Given the description of an element on the screen output the (x, y) to click on. 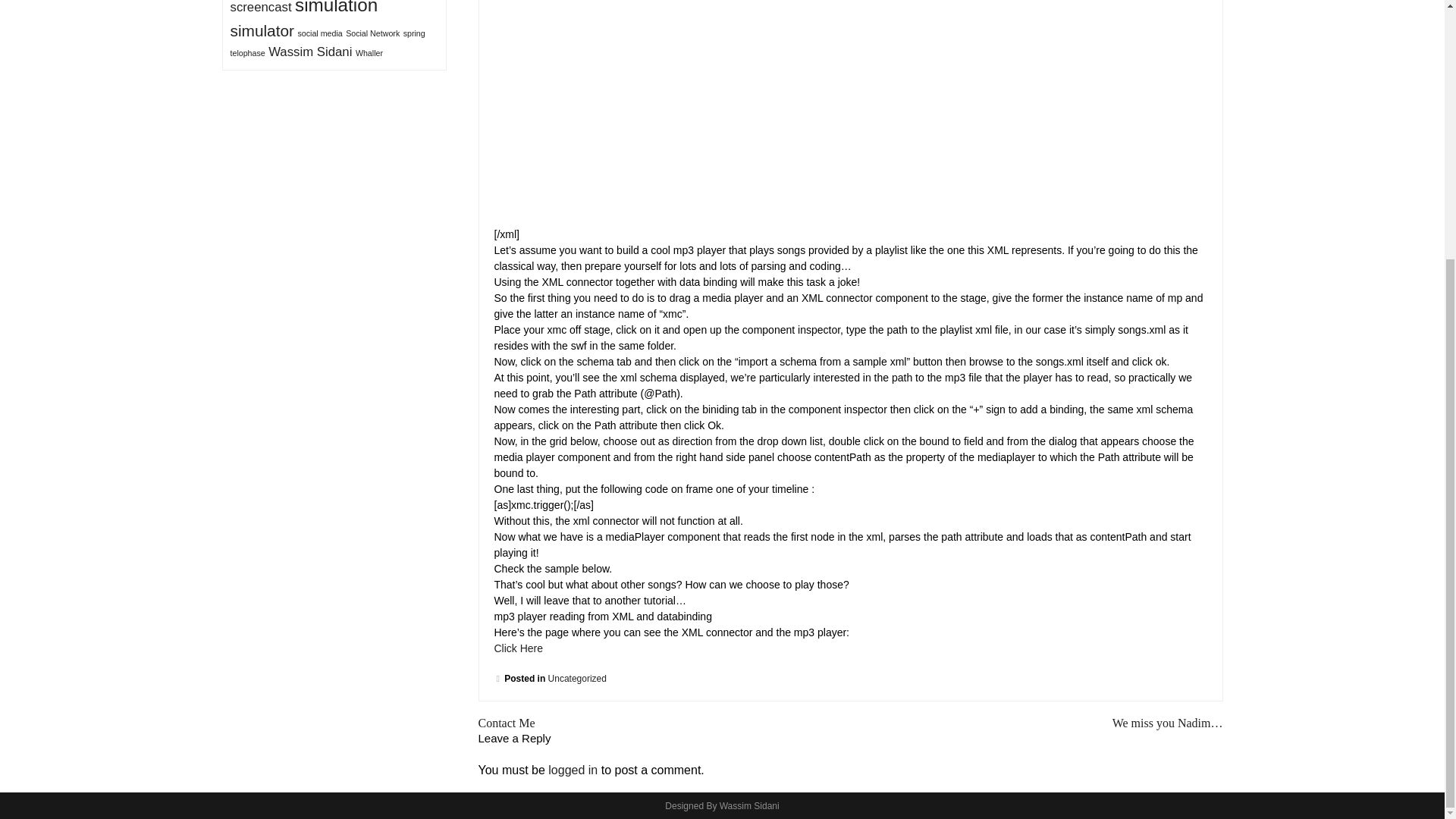
Uncategorized (577, 678)
Contact Me (505, 722)
logged in (572, 769)
Click Here (519, 648)
